Given the description of an element on the screen output the (x, y) to click on. 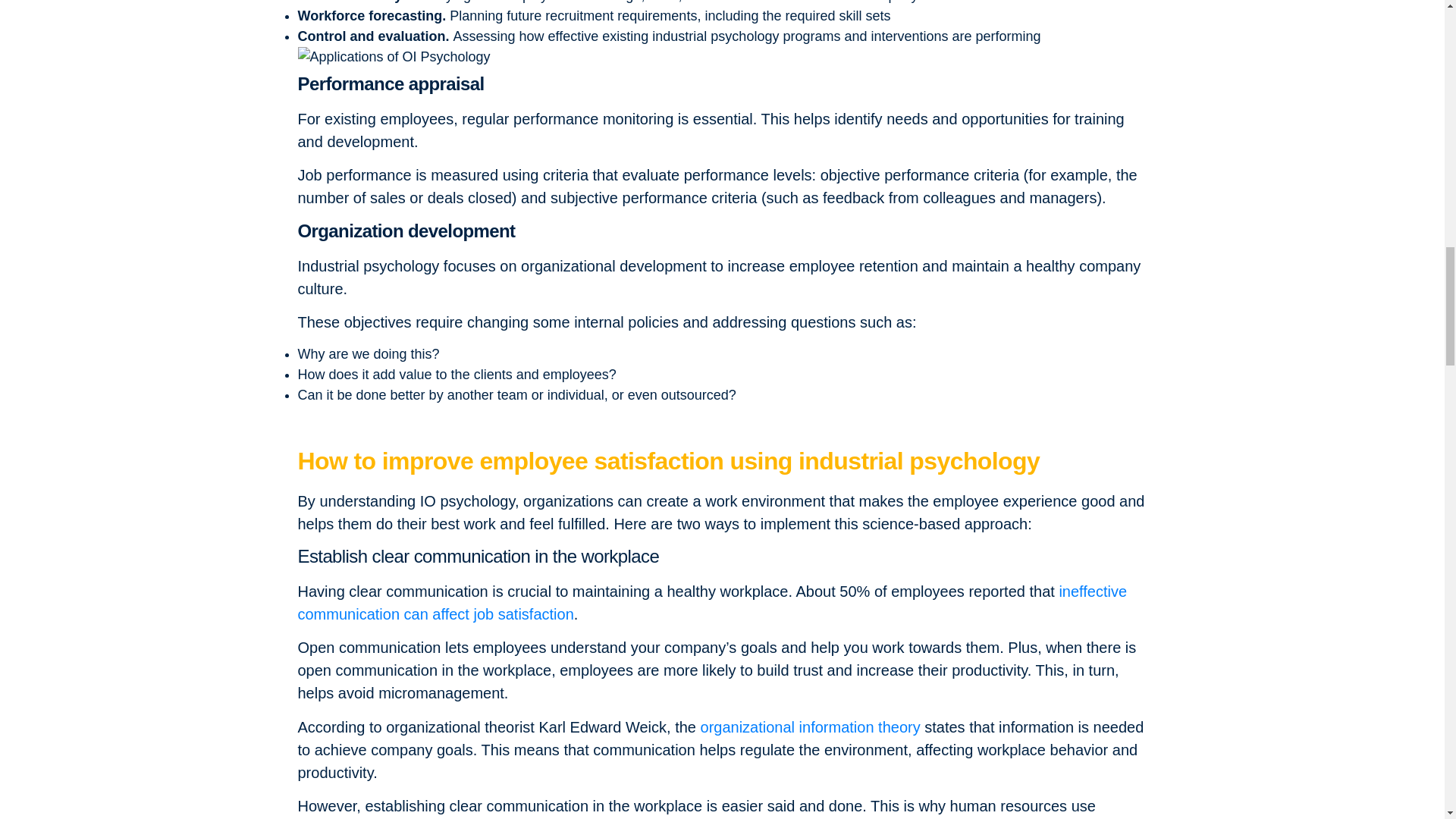
ineffective communication can affect job satisfaction (711, 602)
organizational information theory (810, 727)
